Given the description of an element on the screen output the (x, y) to click on. 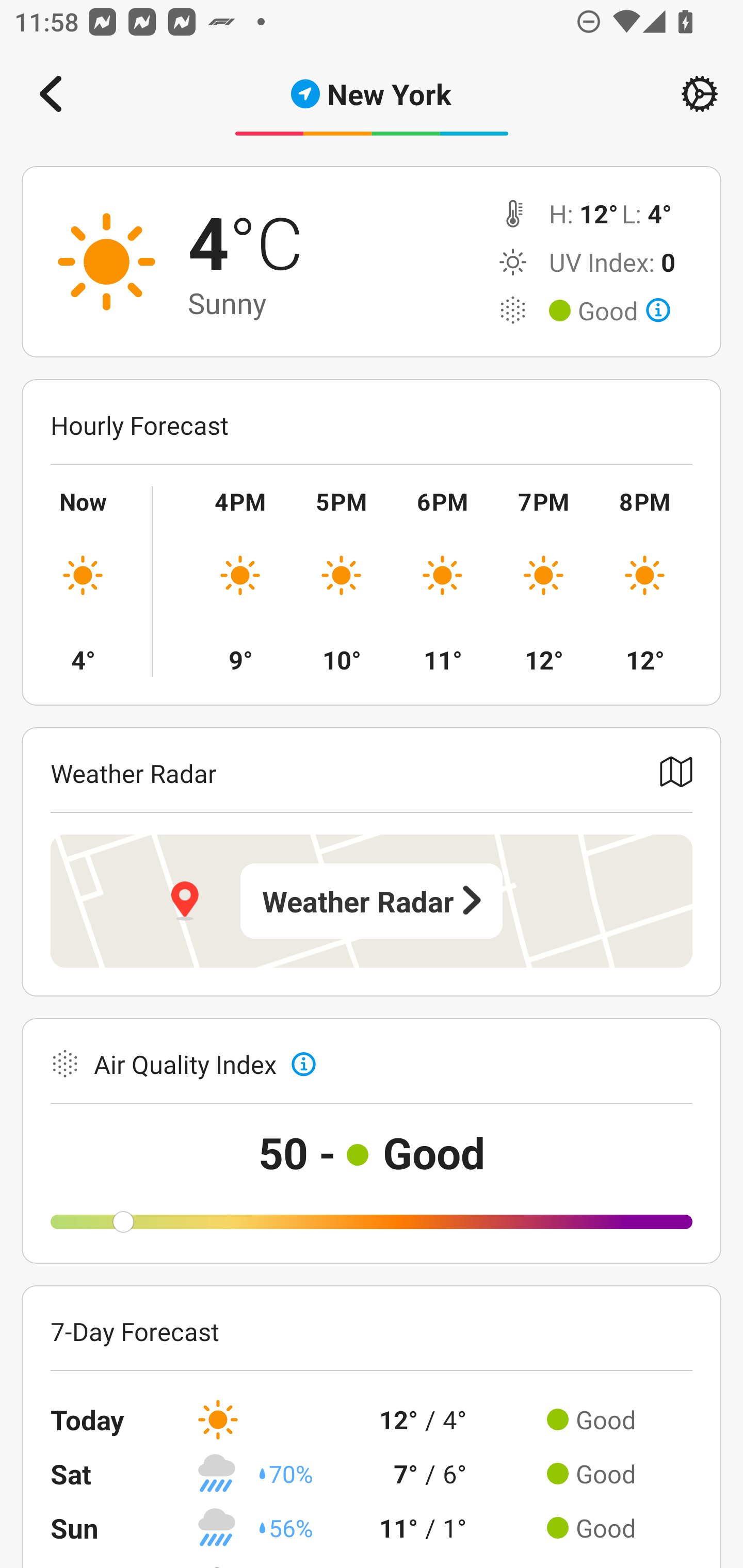
Navigate up (50, 93)
Setting (699, 93)
Good (624, 310)
Weather Radar (371, 900)
